Given the description of an element on the screen output the (x, y) to click on. 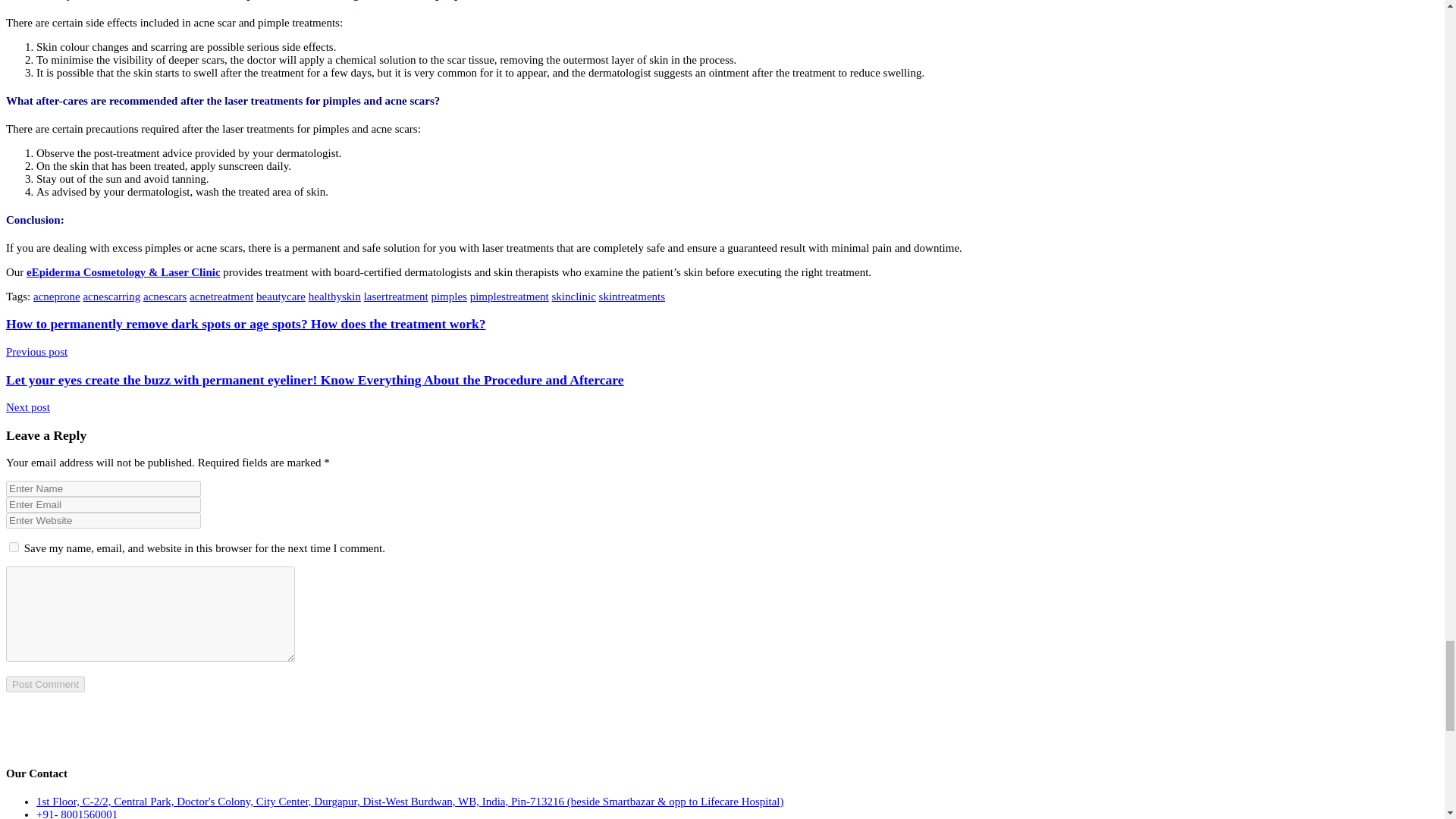
yes (13, 547)
Post Comment (44, 684)
